Given the description of an element on the screen output the (x, y) to click on. 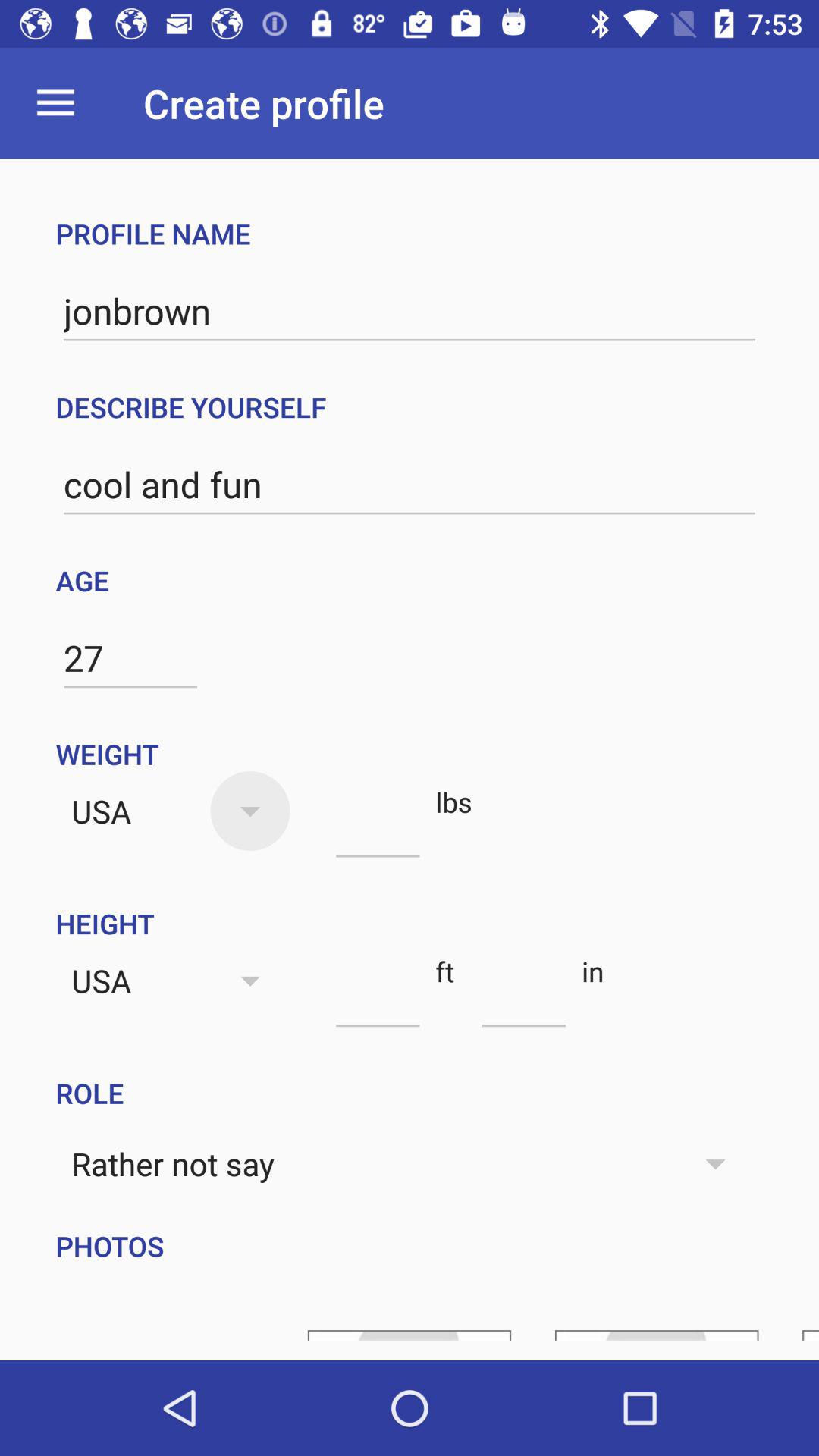
how many feet tall you are (377, 999)
